Given the description of an element on the screen output the (x, y) to click on. 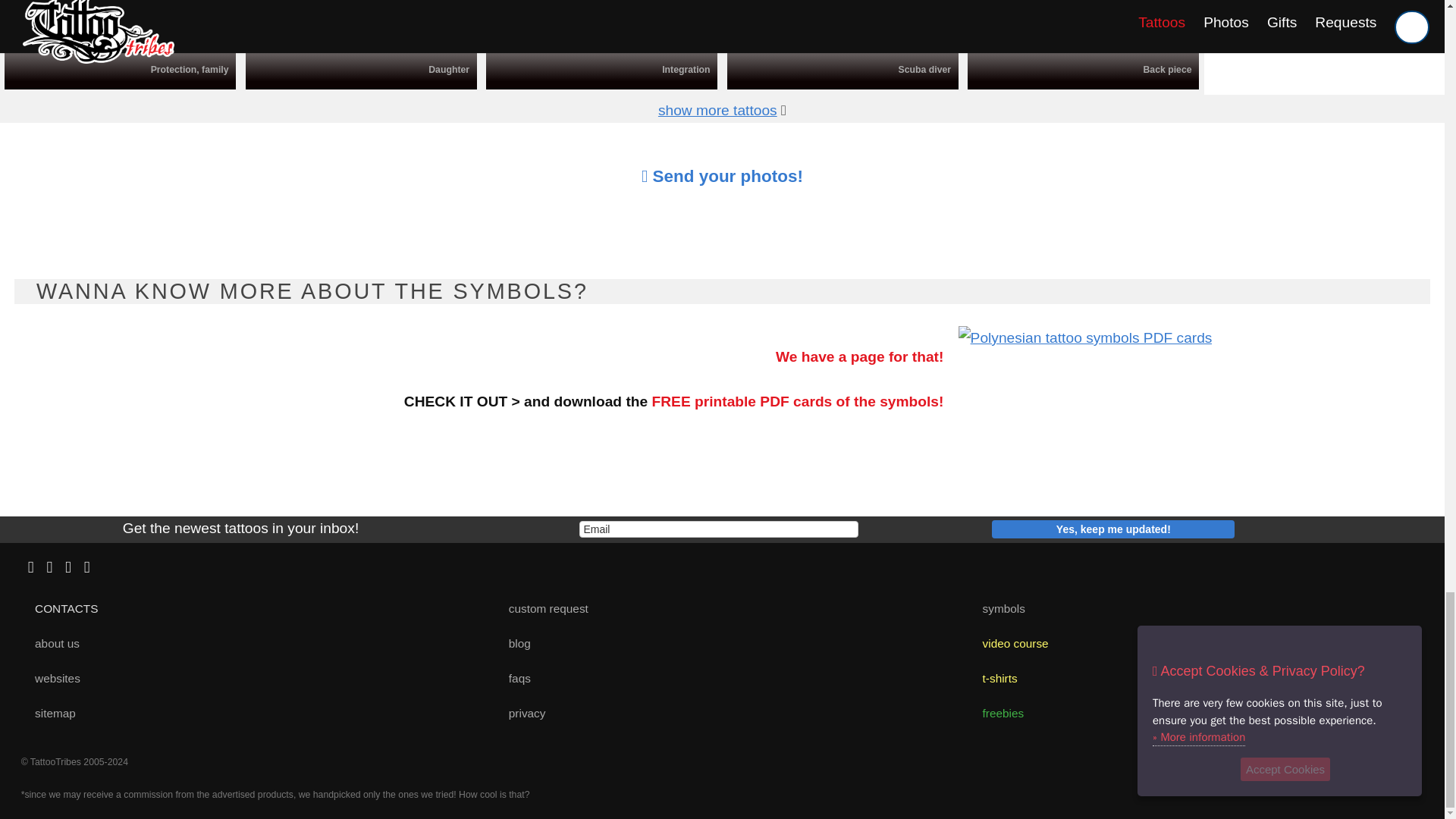
Artists contacts (61, 607)
Polynesian tattoo symbols wiki (998, 607)
Polynesian Tattoos 101 video course (1009, 643)
TattooTribes blog (512, 643)
Custom tattoo requests (542, 607)
Privacy policy (520, 712)
sitemap (49, 712)
Our websites (51, 677)
Frequently Asked Questions (512, 677)
About us (51, 643)
